Given the description of an element on the screen output the (x, y) to click on. 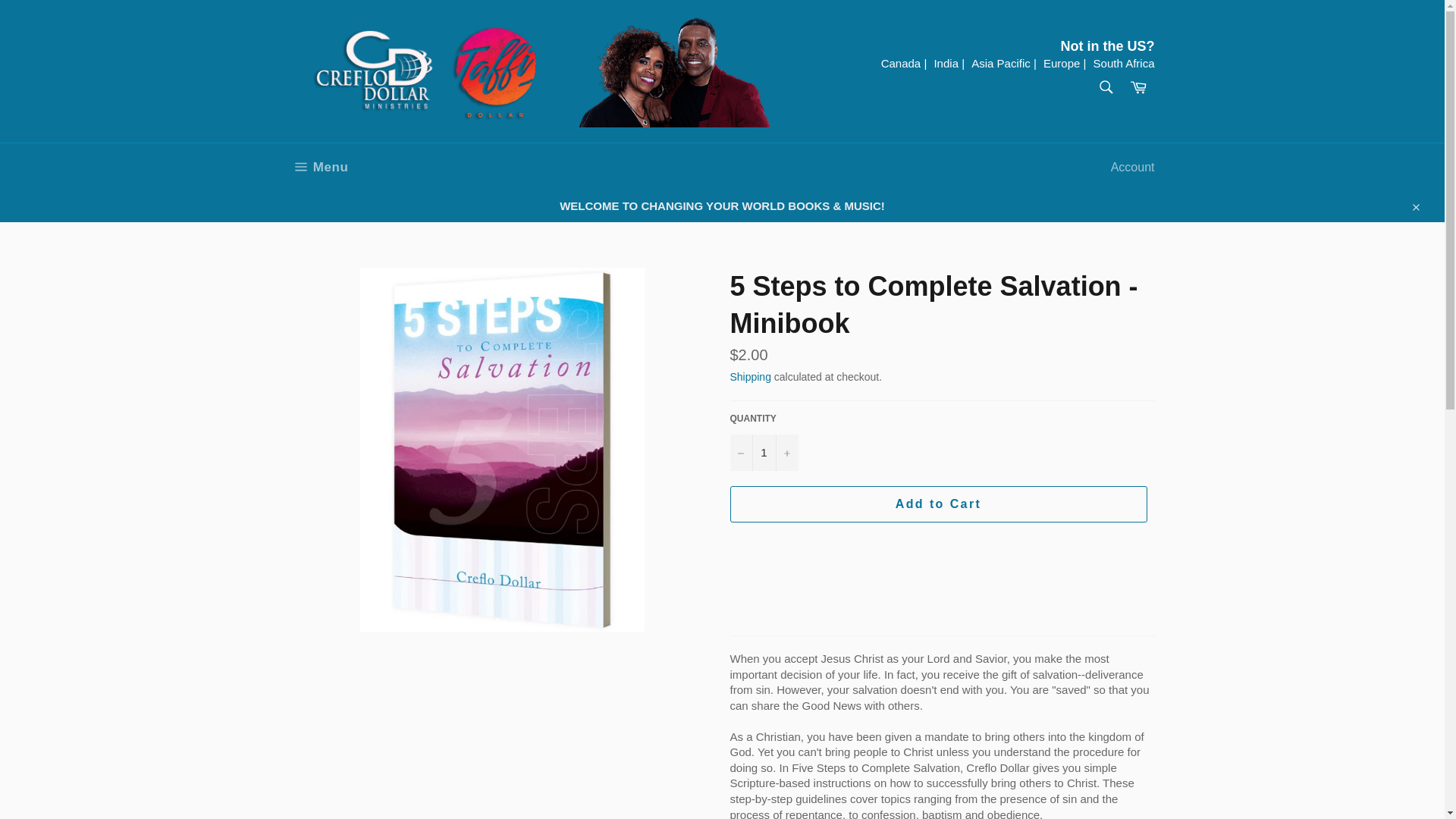
Search (1104, 87)
1 (318, 167)
Cart (763, 452)
South Africa (1138, 88)
